Given the description of an element on the screen output the (x, y) to click on. 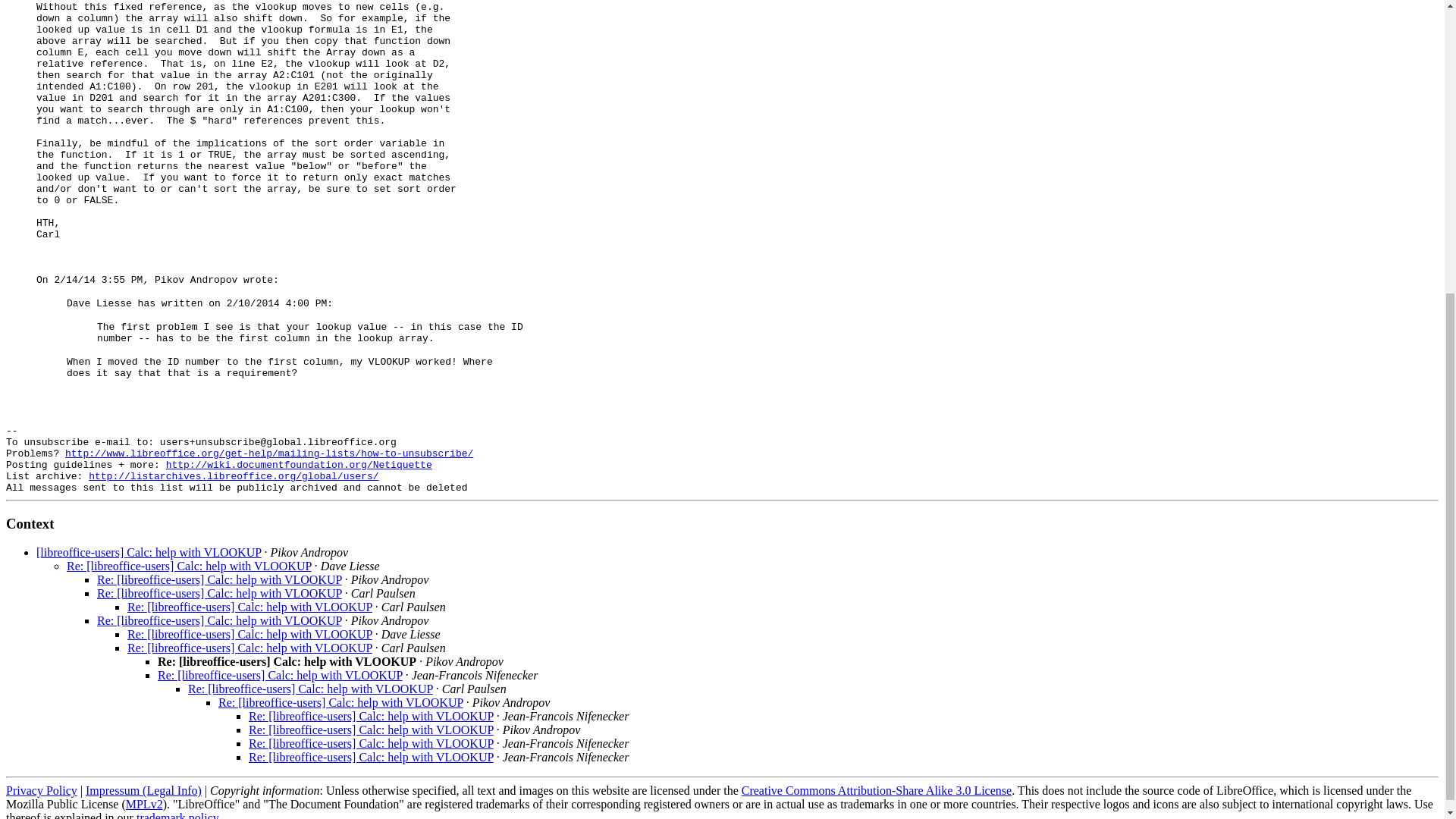
Privacy Policy (41, 789)
Creative Commons Attribution-Share Alike 3.0 License (876, 789)
MPLv2 (144, 803)
